Given the description of an element on the screen output the (x, y) to click on. 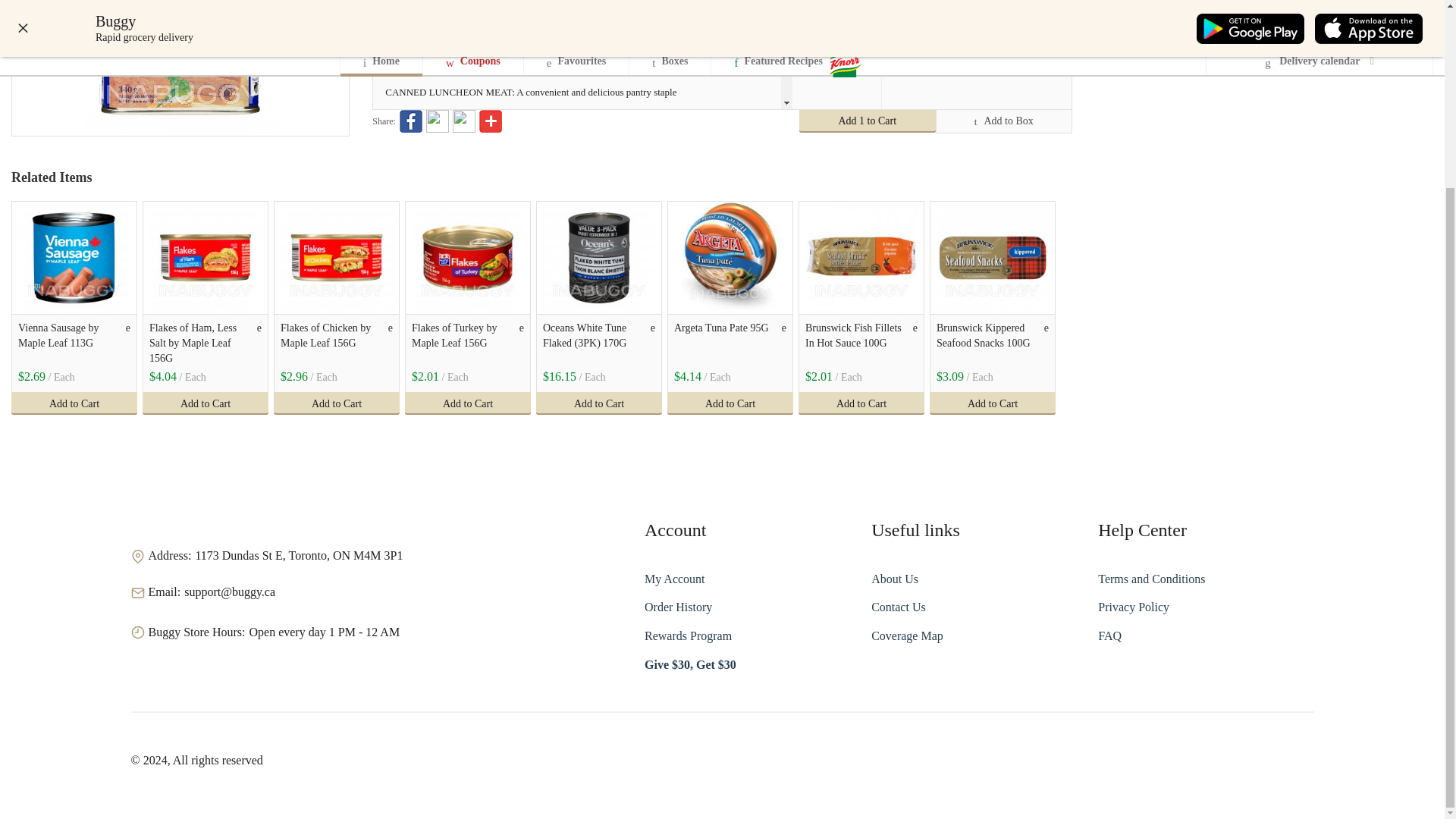
Brunswick Fish Fillets In Hot Sauce 100G (858, 342)
Brunswick Fish Fillets In Hot Sauce 100G (861, 257)
Vienna Sausage by Maple Leaf 113G (70, 342)
Flakes of Turkey by Maple Leaf 156G (464, 342)
Brunswick Kippered Seafood Snacks 100G (989, 342)
Flakes of Turkey by Maple Leaf 156G (468, 257)
Flakes of Ham, Less Salt by Maple Leaf 156G (201, 342)
Flakes of Chicken by Maple Leaf 156G (337, 257)
Brunswick Kippered Seafood Snacks 100G (992, 257)
Flakes of Ham, Less Salt by Maple Leaf 156G (205, 257)
